Given the description of an element on the screen output the (x, y) to click on. 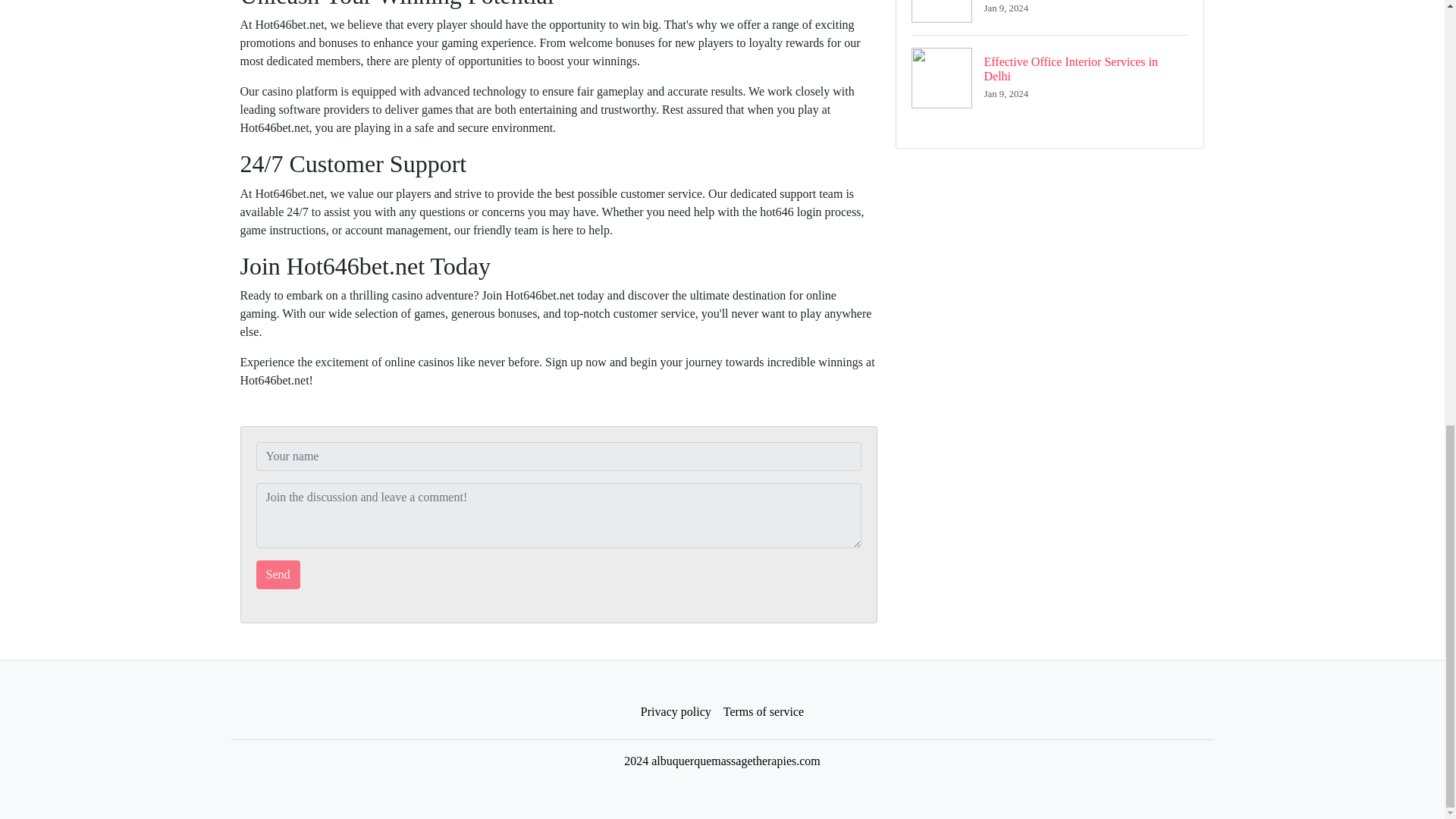
Send (277, 574)
Privacy policy (1050, 17)
Send (675, 711)
Terms of service (277, 574)
